Given the description of an element on the screen output the (x, y) to click on. 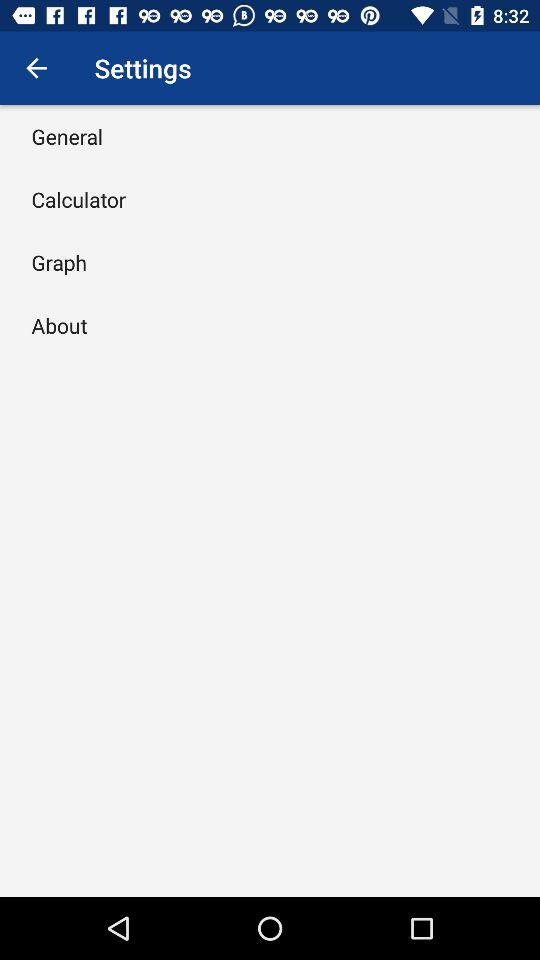
turn off the graph (59, 262)
